Given the description of an element on the screen output the (x, y) to click on. 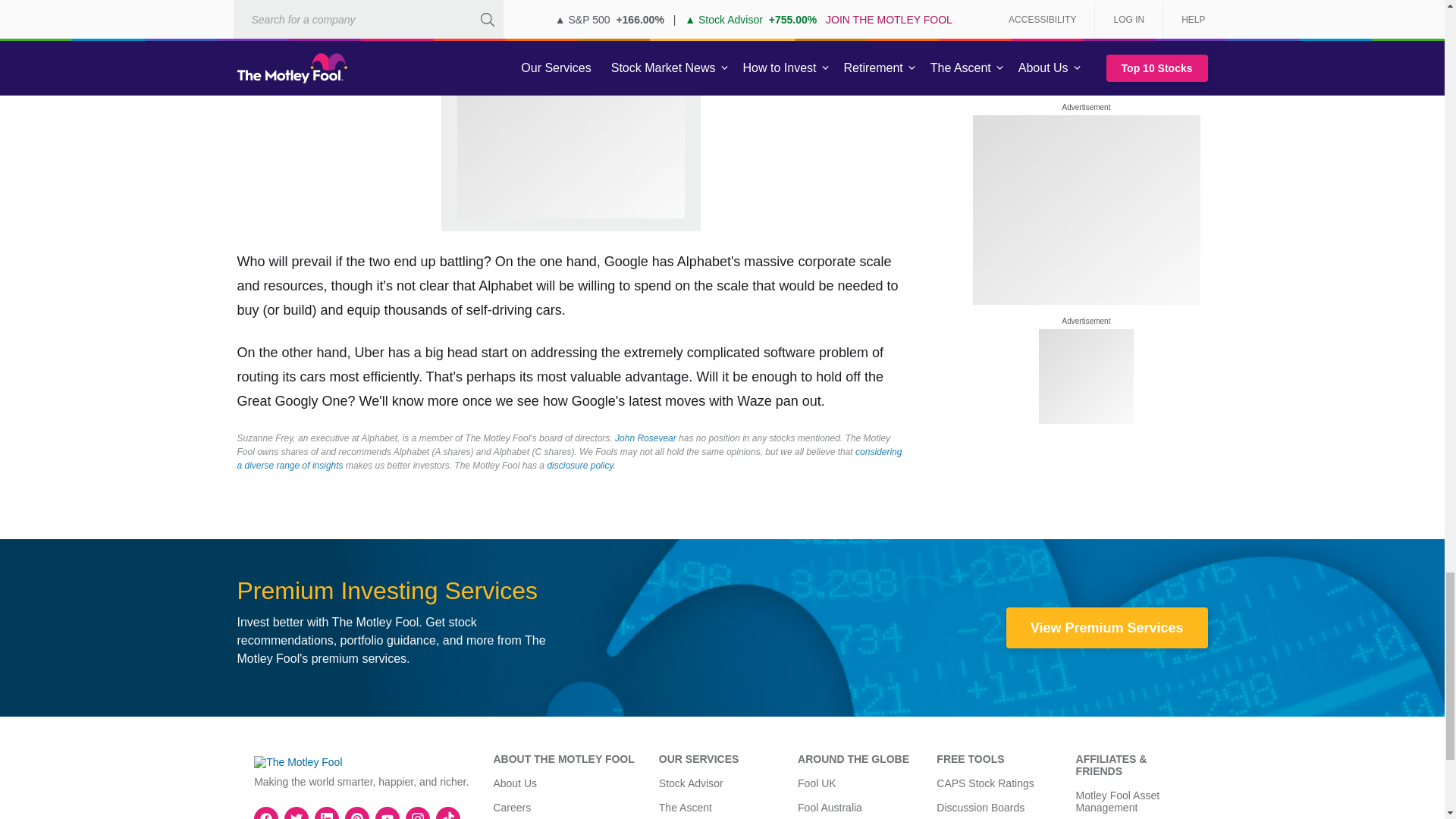
Facebook (266, 812)
LinkedIn (326, 812)
YouTube (387, 812)
Instagram (417, 812)
Twitter (295, 812)
TikTok (448, 812)
Pinterest (356, 812)
